Given the description of an element on the screen output the (x, y) to click on. 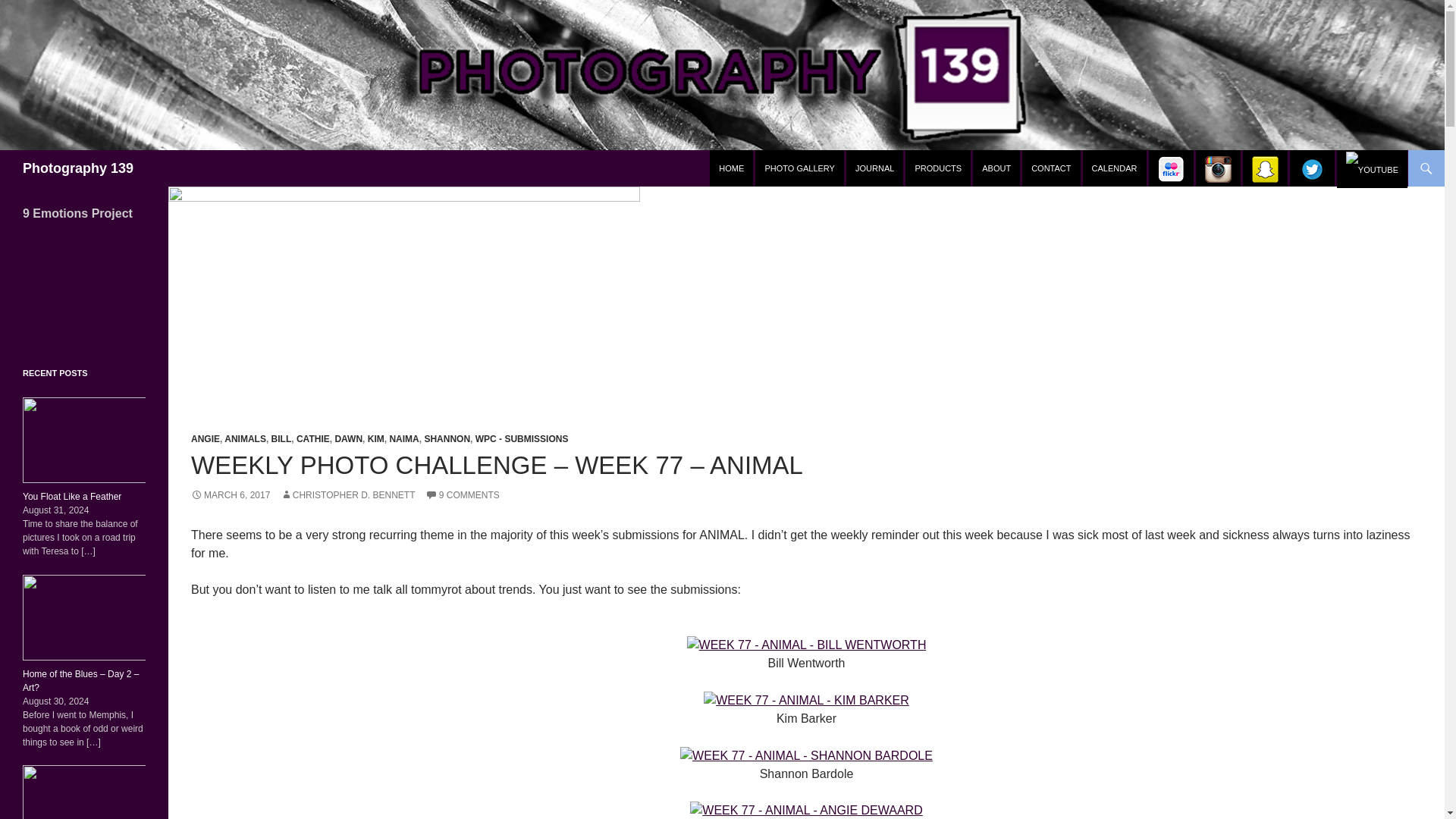
Blog (873, 167)
BILL (281, 439)
MARCH 6, 2017 (229, 494)
KIM (376, 439)
HOME (731, 167)
PHOTO GALLERY (799, 167)
Shameless Commerce Division (938, 167)
9 COMMENTS (462, 494)
Why We Exist? (996, 167)
YouTube (1371, 168)
